Given the description of an element on the screen output the (x, y) to click on. 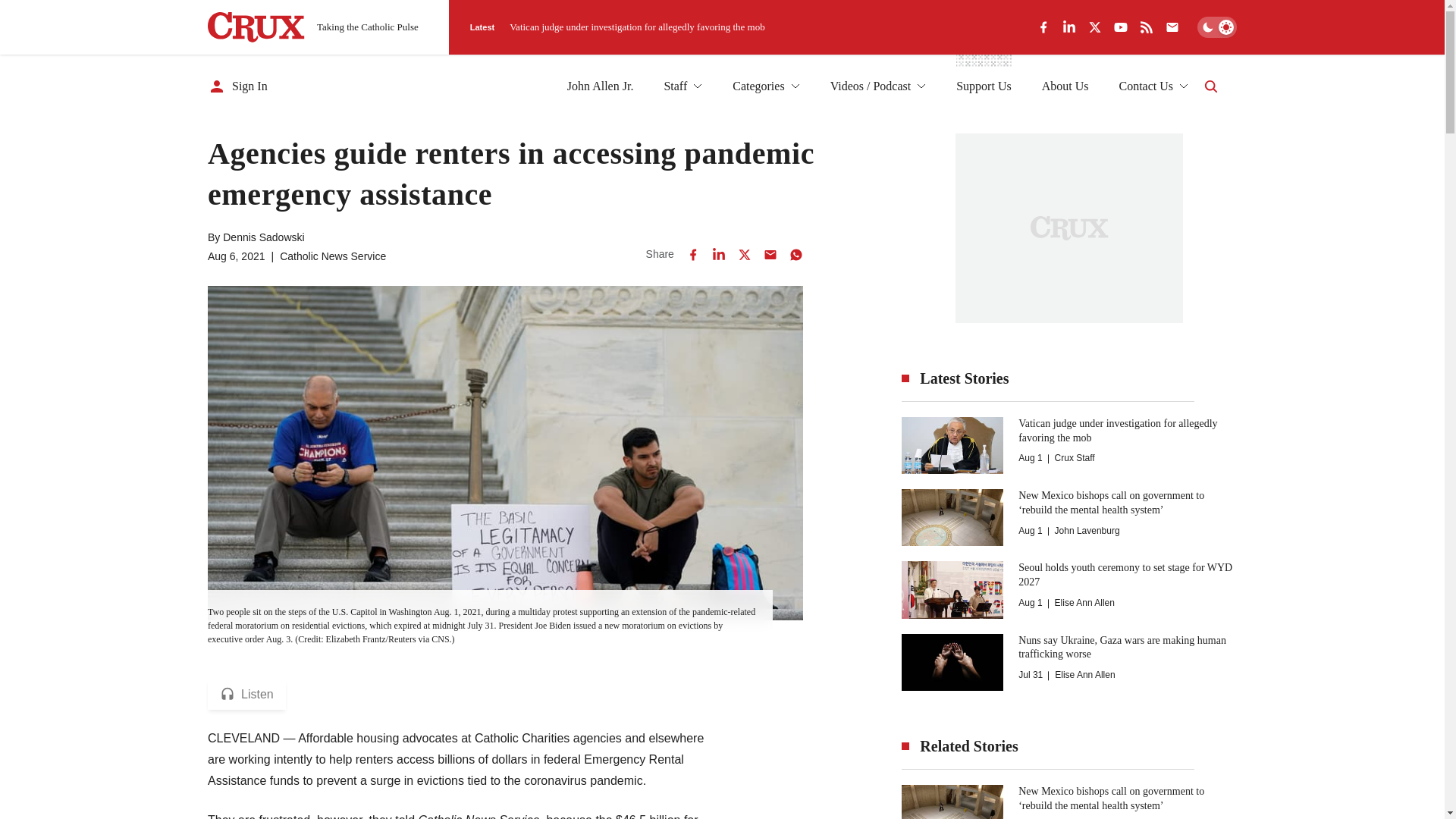
Staff (682, 85)
Support Us (983, 85)
John Allen Jr. (600, 85)
true (559, 749)
Privacy Policy (711, 749)
Categories (765, 85)
Subscribe (1037, 756)
Sign In (237, 85)
